Given the description of an element on the screen output the (x, y) to click on. 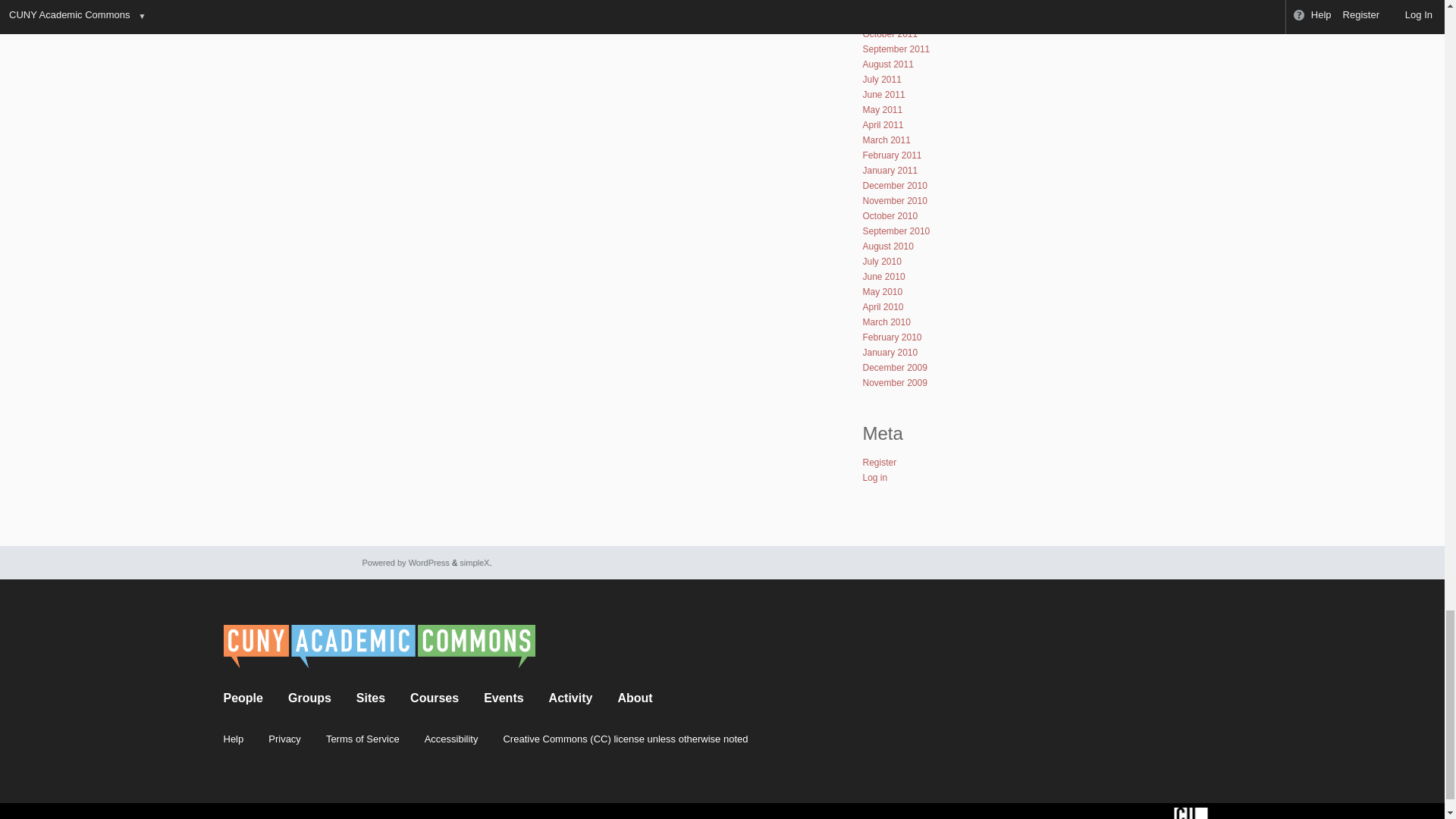
Minimalist WordPress Themes (474, 562)
Semantic Personal Publishing Platform (405, 562)
